Given the description of an element on the screen output the (x, y) to click on. 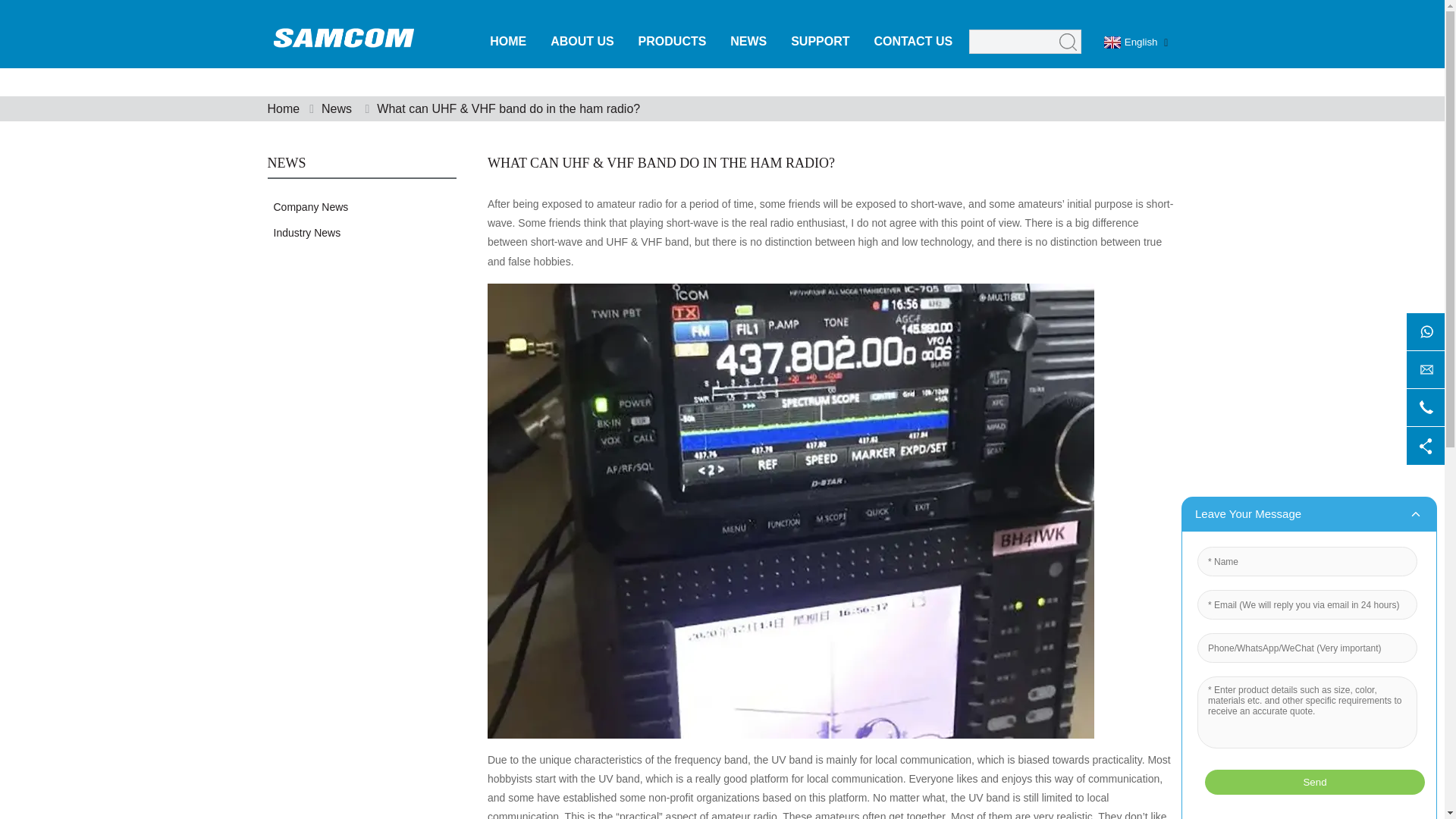
SUPPORT (820, 41)
NEWS (748, 41)
CONTACT US (907, 41)
PRODUCTS (672, 41)
English (1128, 42)
HOME (508, 41)
ABOUT US (582, 41)
